Given the description of an element on the screen output the (x, y) to click on. 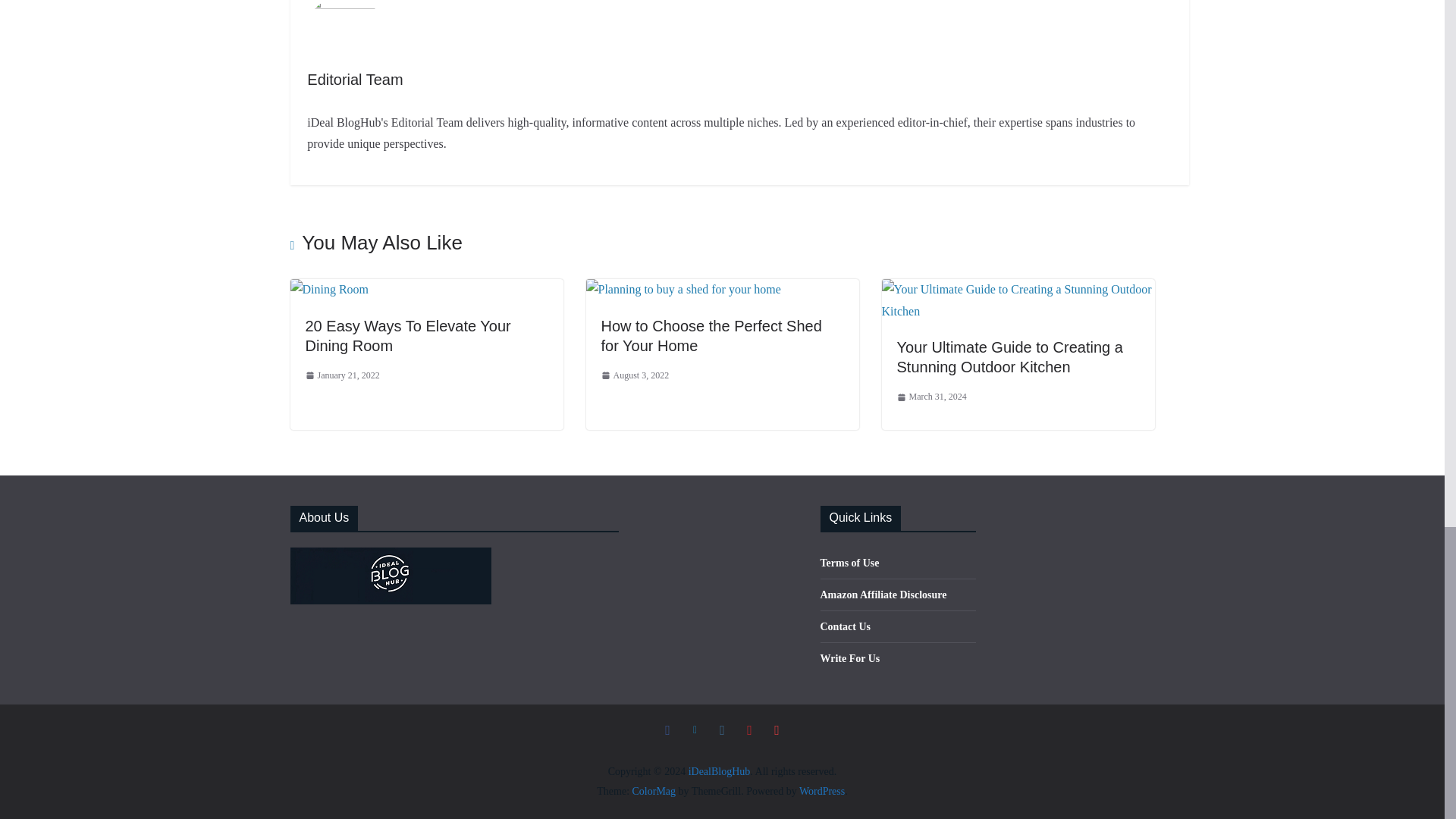
8:19 pm (341, 375)
How to Choose the Perfect Shed for Your Home (710, 335)
How to Choose the Perfect Shed for Your Home (682, 288)
12:17 am (633, 375)
20 Easy Ways To Elevate Your Dining Room (328, 288)
20 Easy Ways To Elevate Your Dining Room (407, 335)
